Given the description of an element on the screen output the (x, y) to click on. 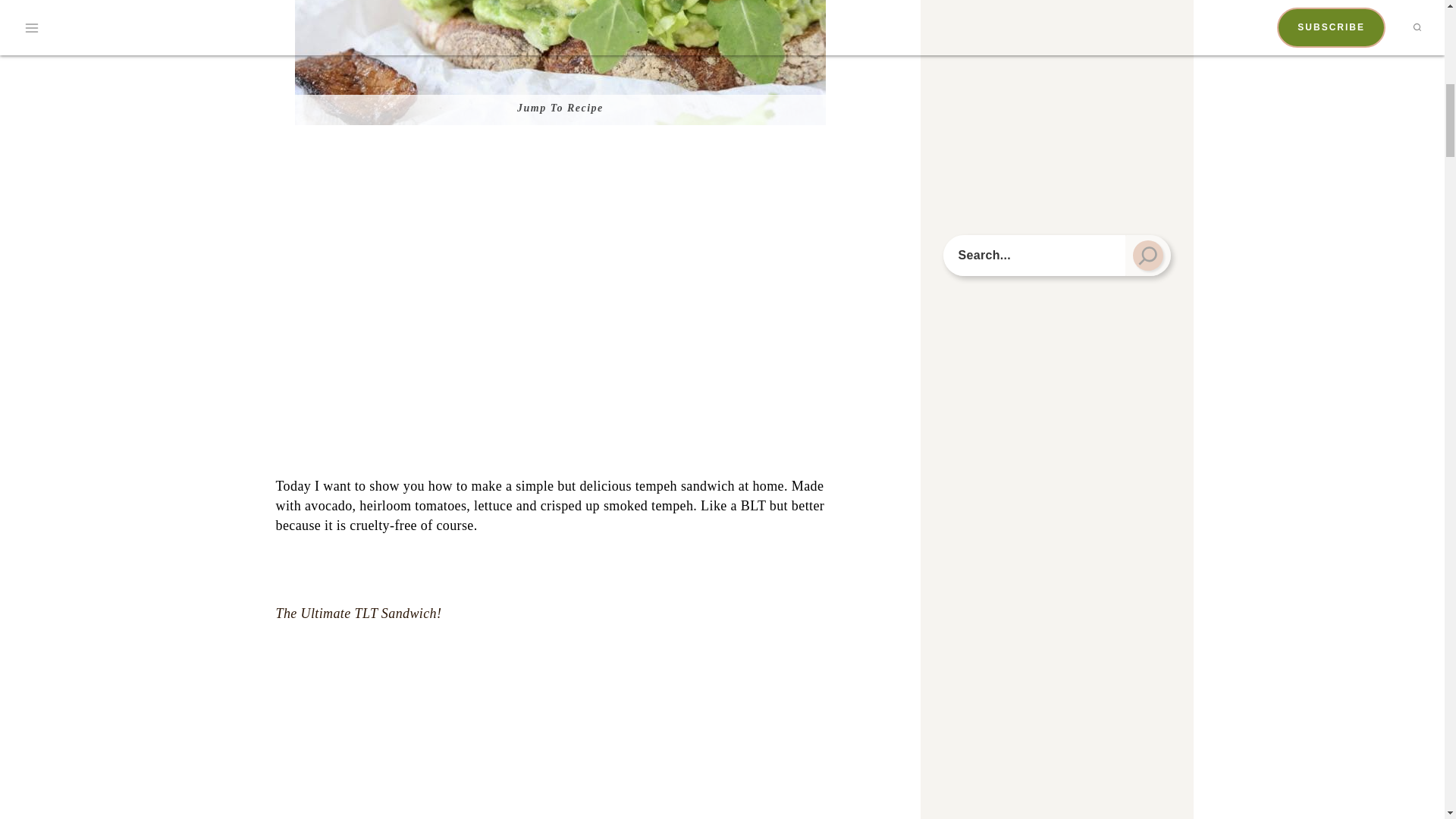
Jump To Recipe (560, 110)
Vegan Avocado Tempeh Sandwich with Lettuce and Tomatoes (560, 62)
